Given the description of an element on the screen output the (x, y) to click on. 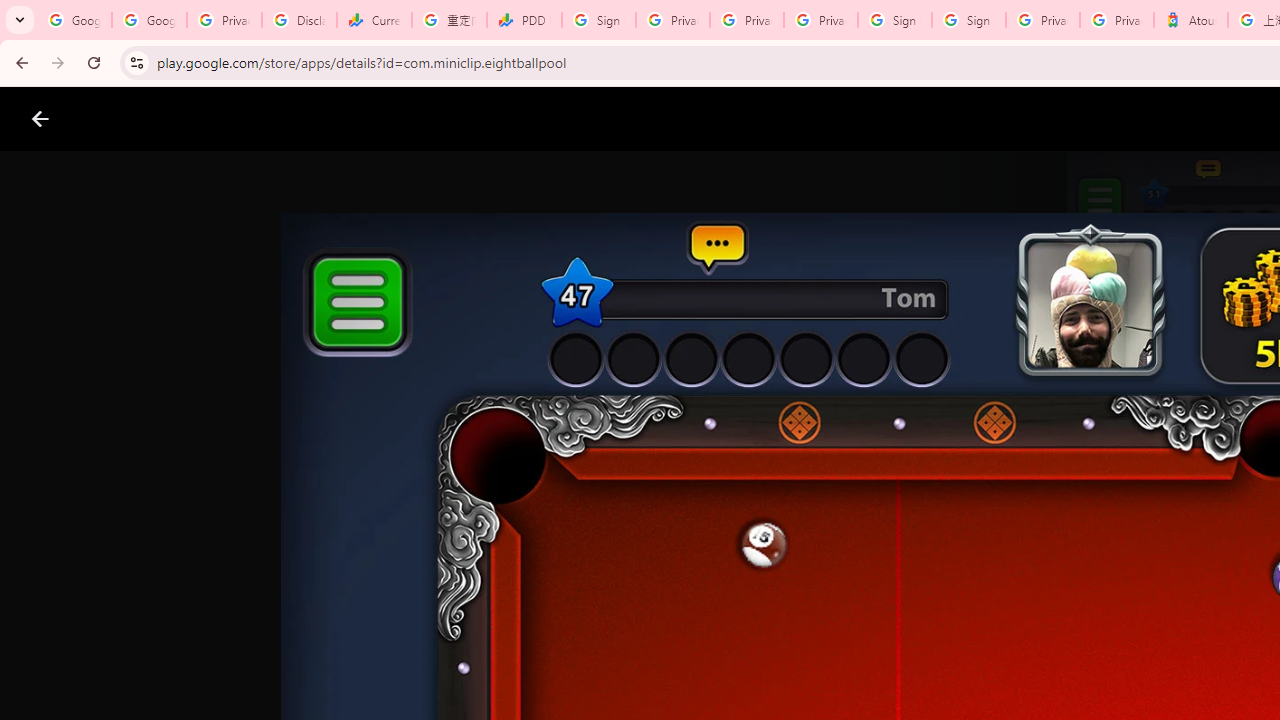
Currencies - Google Finance (374, 20)
